Given the description of an element on the screen output the (x, y) to click on. 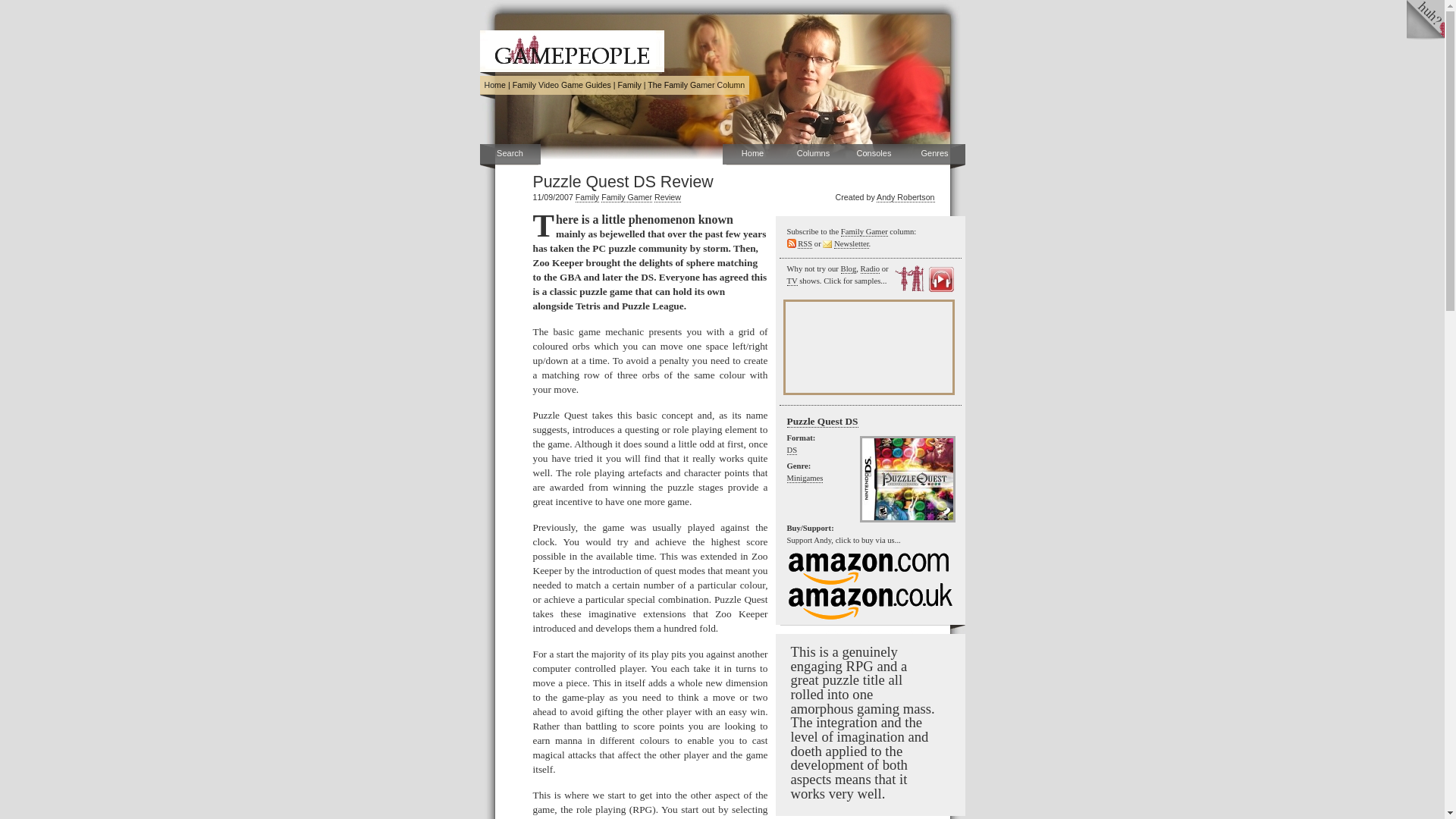
The Family Gamer Column (695, 84)
Review (667, 197)
Home (494, 84)
Family (628, 84)
Home (752, 154)
Breadcrumb Trail (614, 85)
Home (494, 84)
Family Gamer (626, 197)
Column (695, 84)
Andy Robertson (905, 197)
Group (628, 84)
Family Video Game Guides (561, 84)
Family (586, 197)
Columns (813, 154)
Search (509, 154)
